Given the description of an element on the screen output the (x, y) to click on. 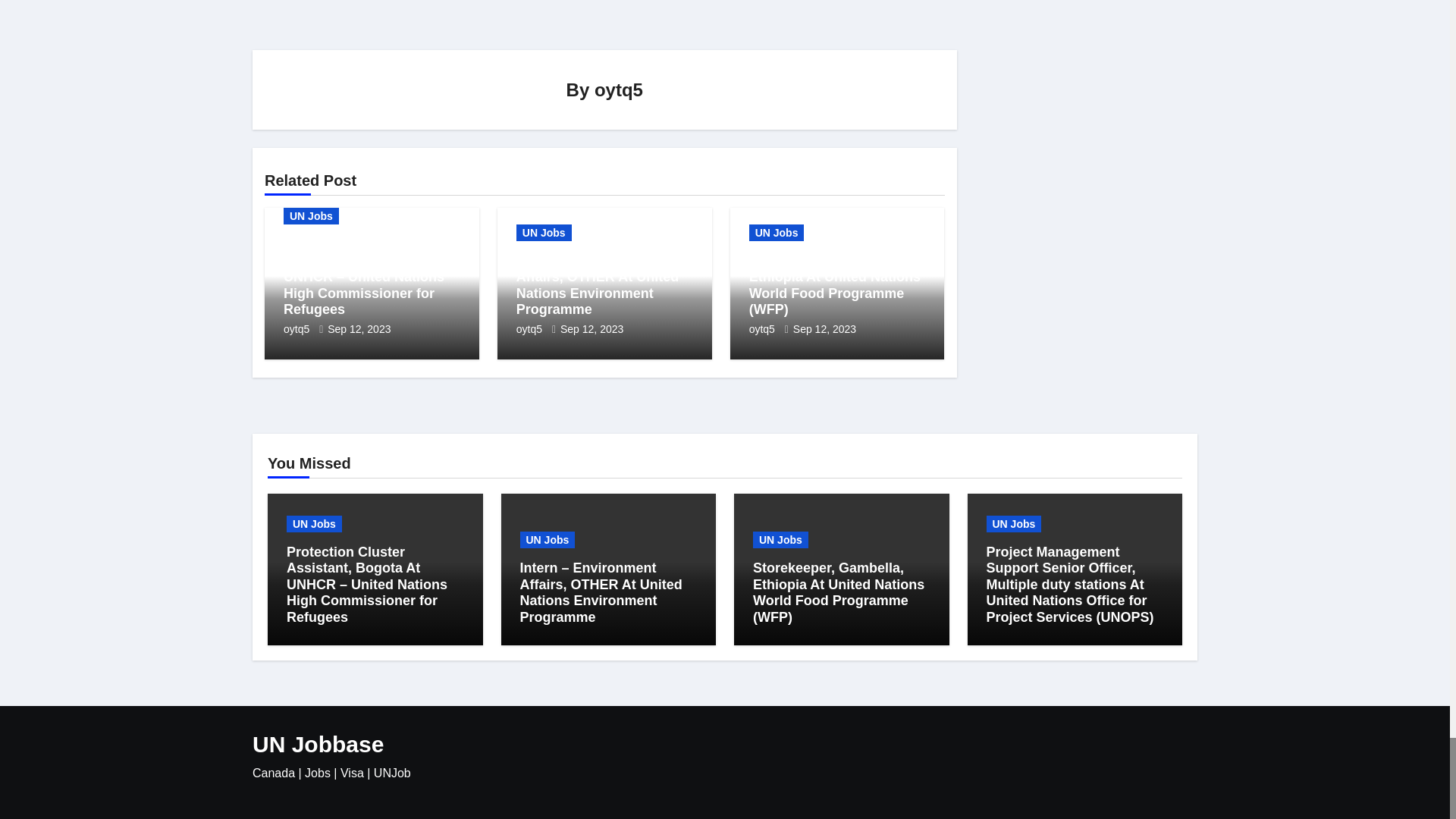
Sep 12, 2023 (591, 328)
UN Jobs (311, 216)
UN Jobs (544, 232)
oytq5 (298, 328)
oytq5 (618, 89)
Sep 12, 2023 (358, 328)
UN Jobs (777, 232)
oytq5 (530, 328)
